Given the description of an element on the screen output the (x, y) to click on. 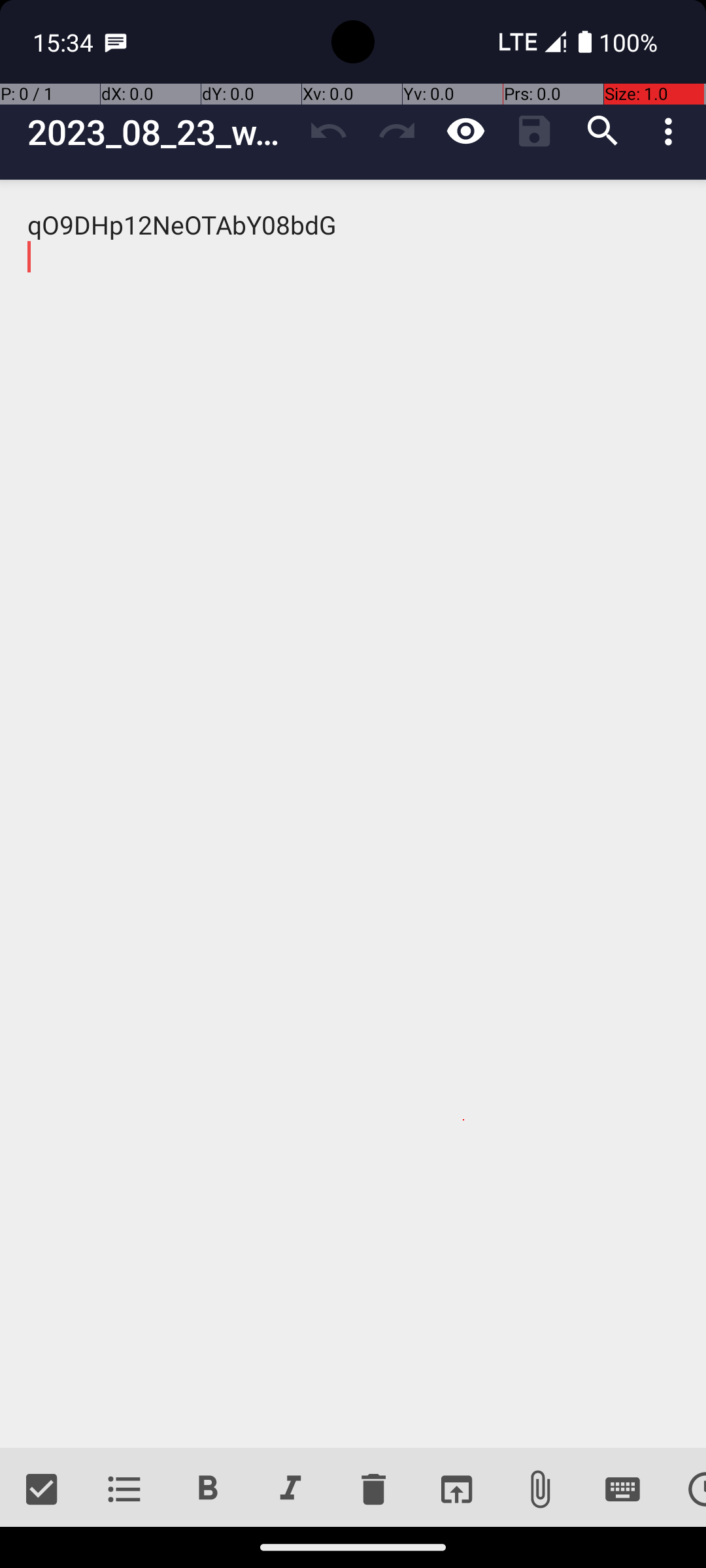
2023_08_23_weekend_todo_list Element type: android.widget.TextView (160, 131)
qO9DHp12NeOTAbY08bdG
 Element type: android.widget.EditText (353, 813)
